Given the description of an element on the screen output the (x, y) to click on. 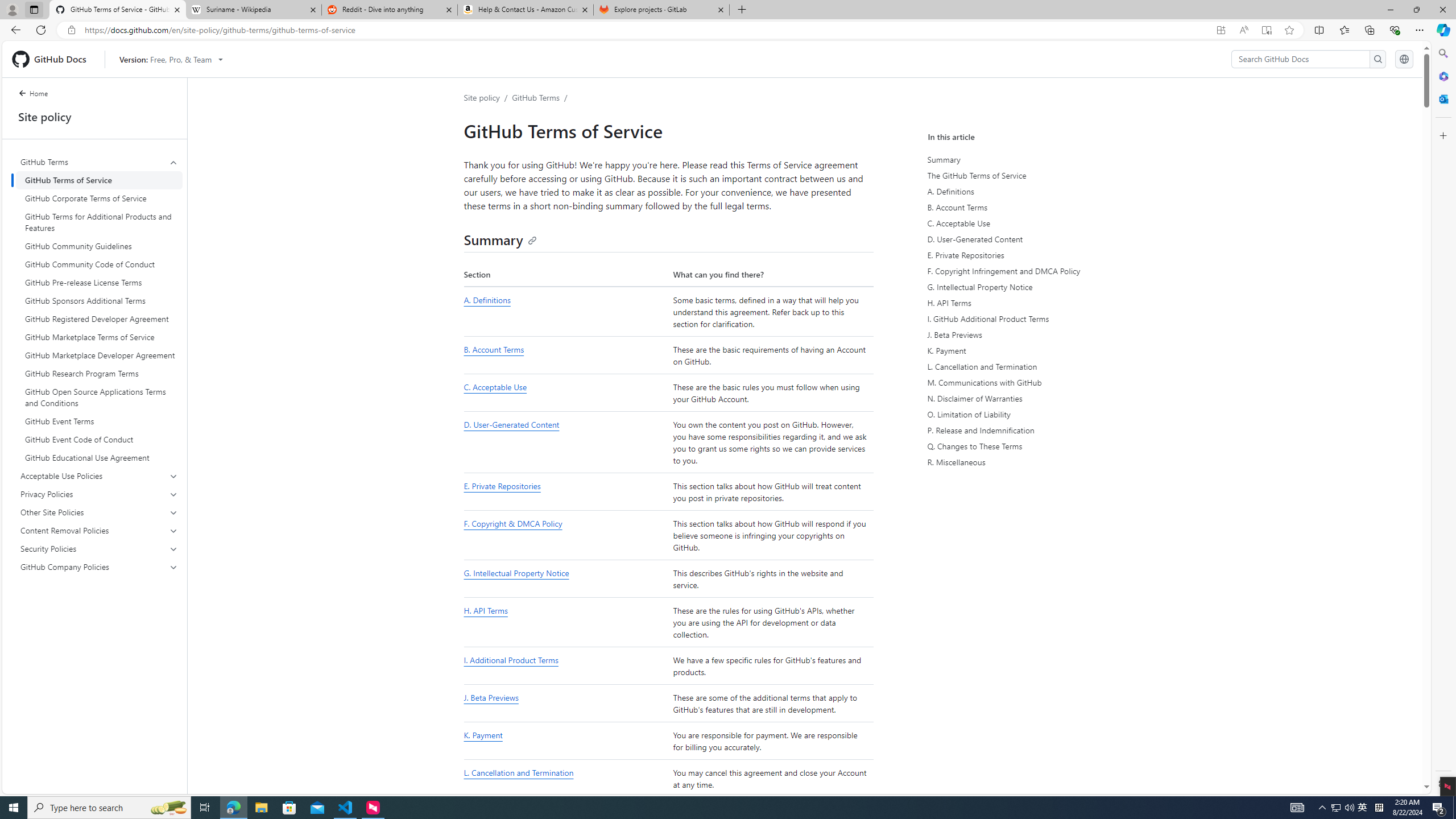
The GitHub Terms of Service (1032, 175)
GitHub Event Code of Conduct (99, 439)
Security Policies (99, 548)
GitHub Research Program Terms (99, 373)
H. API Terms (1032, 302)
GitHub Marketplace Terms of Service (99, 337)
M. Communications with GitHub (1034, 382)
Summary (1032, 159)
GitHub Terms of Service (99, 180)
F. Copyright Infringement and DMCA Policy (1034, 271)
